Given the description of an element on the screen output the (x, y) to click on. 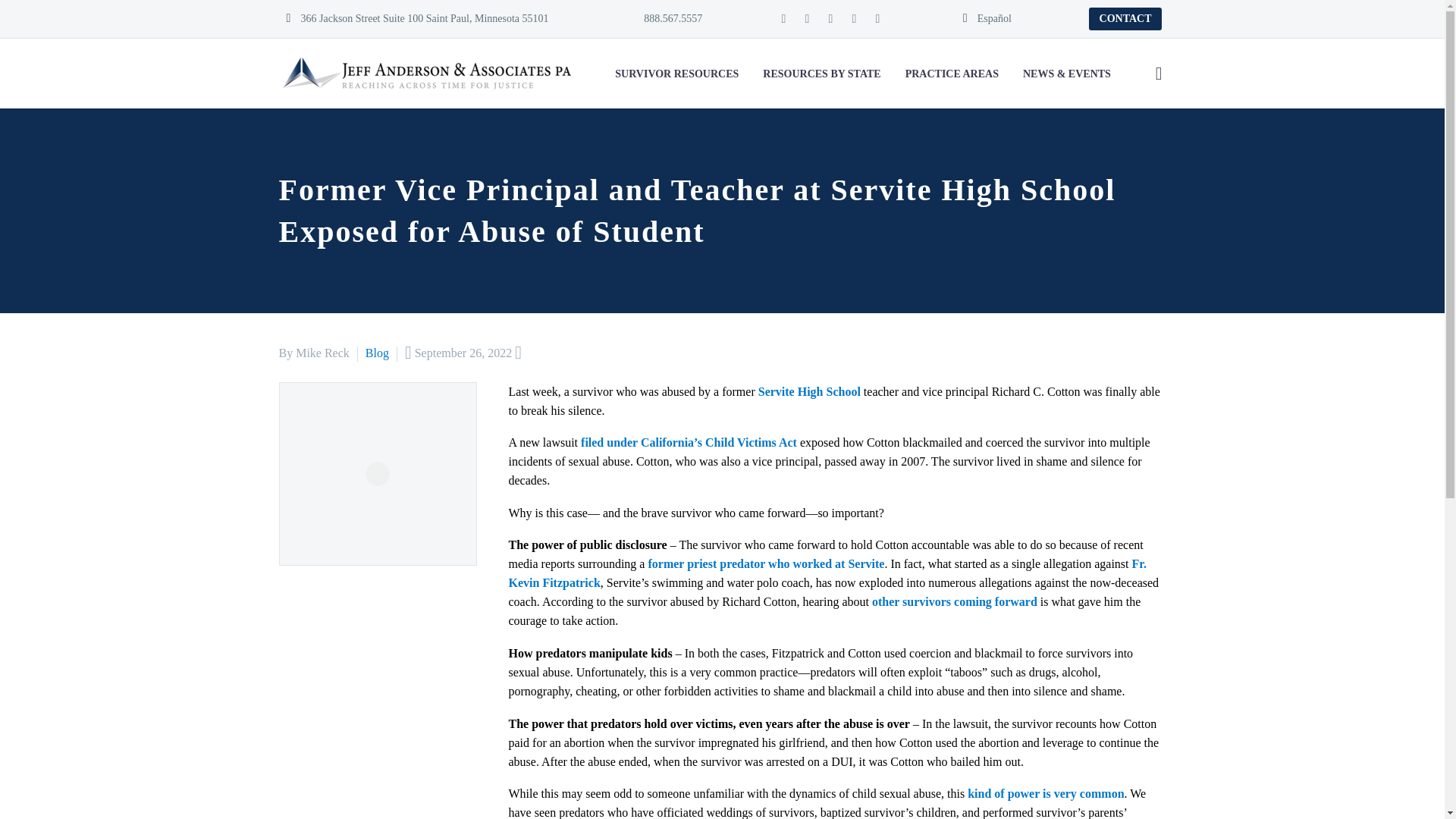
Facebook (783, 19)
Instagram (876, 19)
Twitter (829, 19)
Instagram (853, 19)
View all posts in Blog (376, 352)
888.567.5557 (663, 18)
CONTACT (1125, 18)
